Given the description of an element on the screen output the (x, y) to click on. 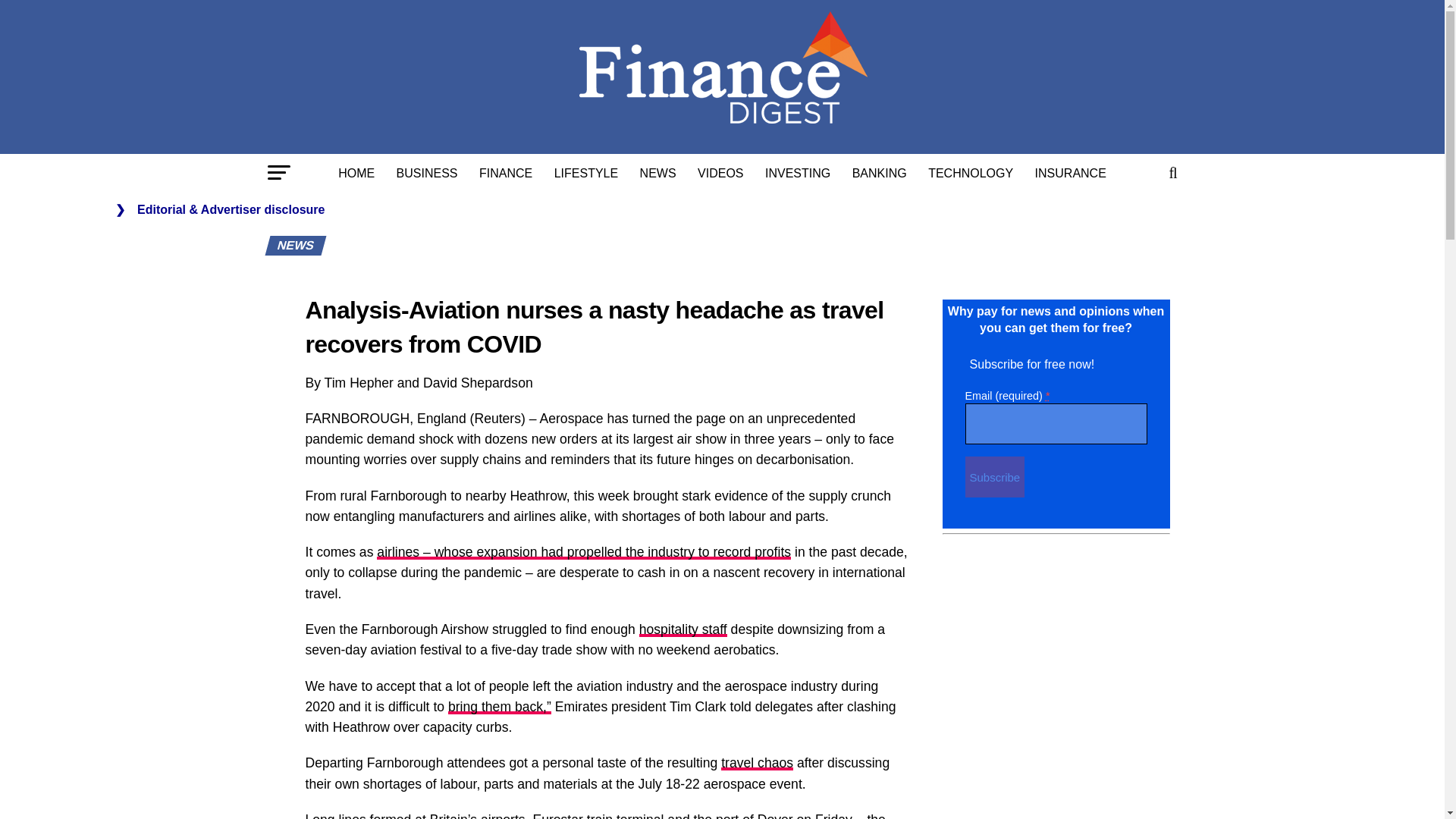
Home (356, 173)
Subscribe (994, 476)
HOME (356, 173)
LIFESTYLE (585, 173)
BUSINESS (427, 173)
Finance (505, 173)
NEWS (657, 173)
News (657, 173)
Business (427, 173)
VIDEOS (720, 173)
